Given the description of an element on the screen output the (x, y) to click on. 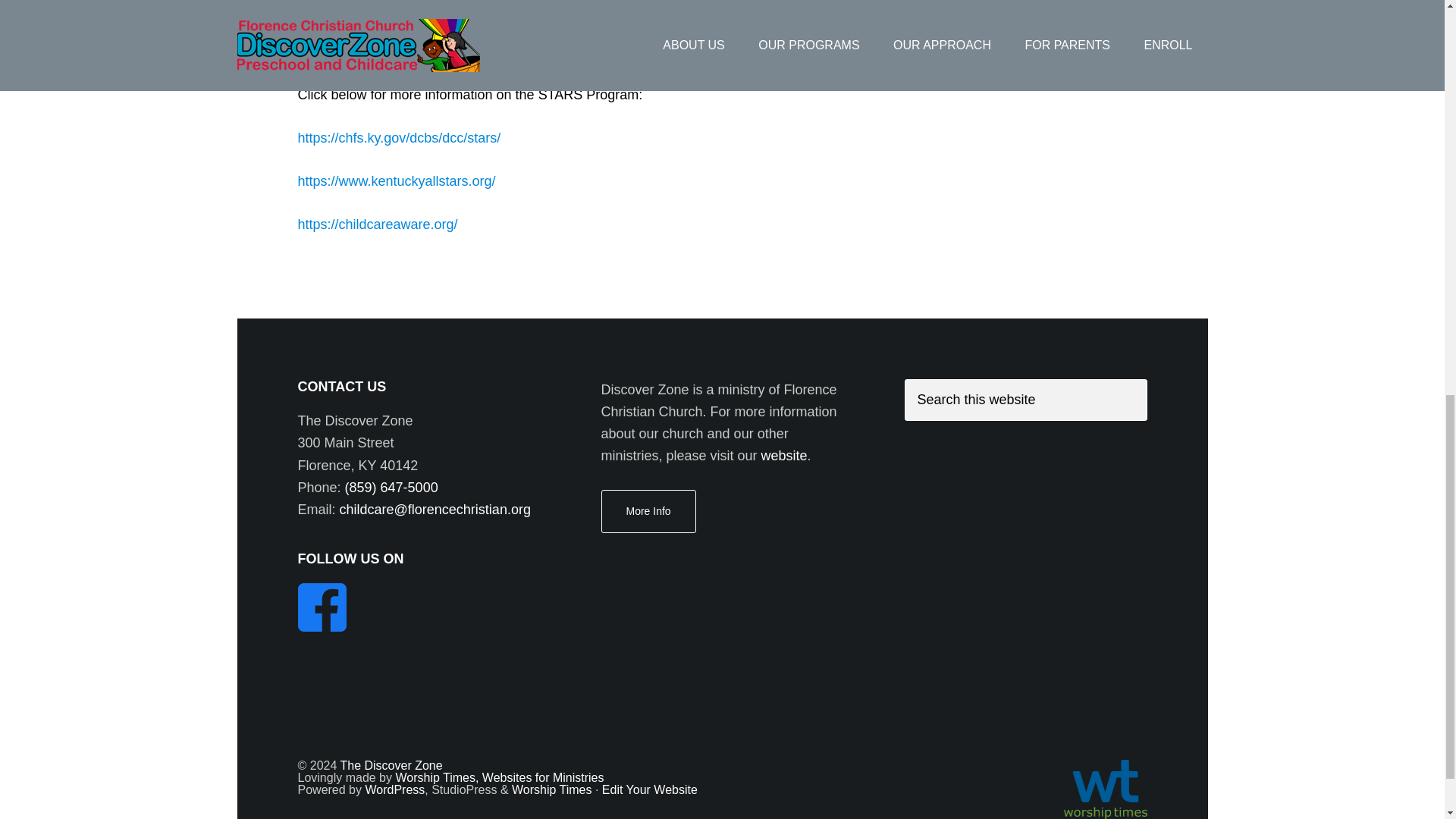
Worship Times, Websites for Ministries (499, 777)
WordPress (395, 789)
The Discover Zone (390, 765)
website (784, 455)
The Discover Zone (390, 765)
More Info (647, 511)
